Given the description of an element on the screen output the (x, y) to click on. 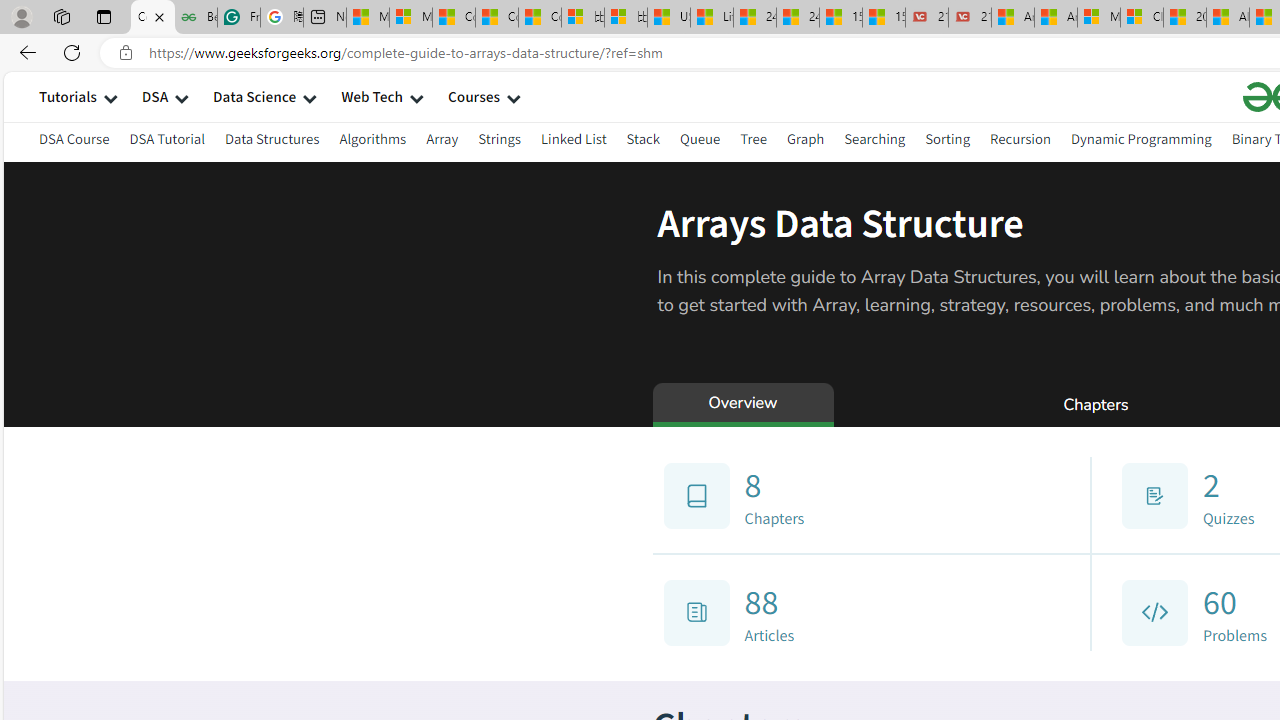
Queue (699, 138)
Courses (474, 96)
Linked List (572, 142)
Complete Guide to Arrays Data Structure - GeeksforGeeks (152, 17)
Algorithms (372, 138)
Tutorials (67, 96)
DSA Course (74, 138)
15 Ways Modern Life Contradicts the Teachings of Jesus (883, 17)
Strings (499, 138)
